Given the description of an element on the screen output the (x, y) to click on. 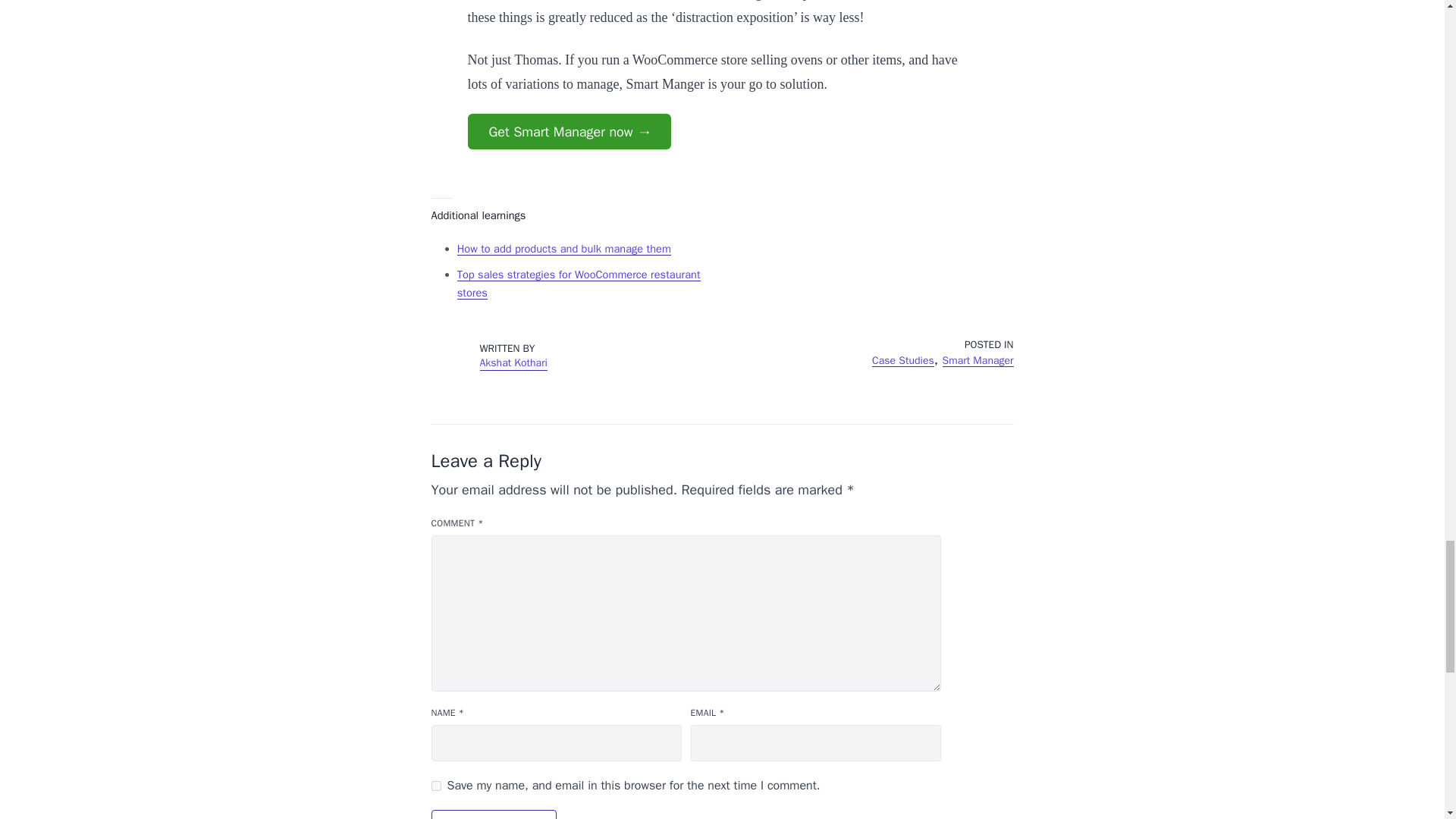
Get Smart Manager now (569, 131)
Smart Manager (977, 359)
Post Comment (493, 814)
How to add products and bulk manage them (564, 248)
Top sales strategies for WooCommerce restaurant stores (578, 283)
Post Comment (493, 814)
Posts by Akshat Kothari (513, 363)
Akshat Kothari (513, 363)
Case Studies (903, 359)
yes (435, 786)
